Given the description of an element on the screen output the (x, y) to click on. 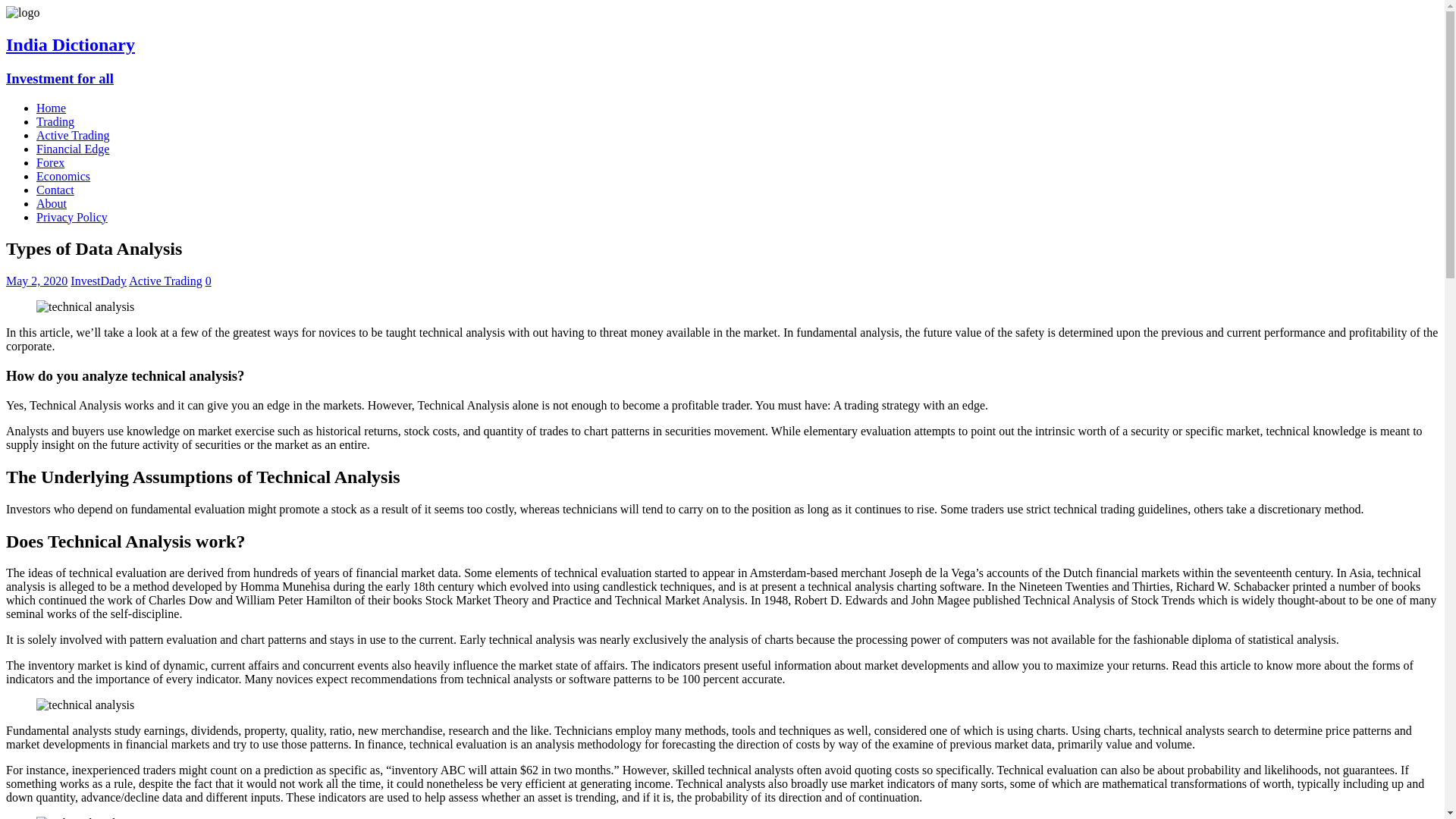
About (51, 203)
Active Trading (165, 280)
InvestDady (97, 280)
Home (50, 107)
May 2, 2020 (35, 280)
Contact (55, 189)
Forex (50, 162)
Active Trading (72, 134)
Economics (63, 175)
Privacy Policy (71, 216)
